Given the description of an element on the screen output the (x, y) to click on. 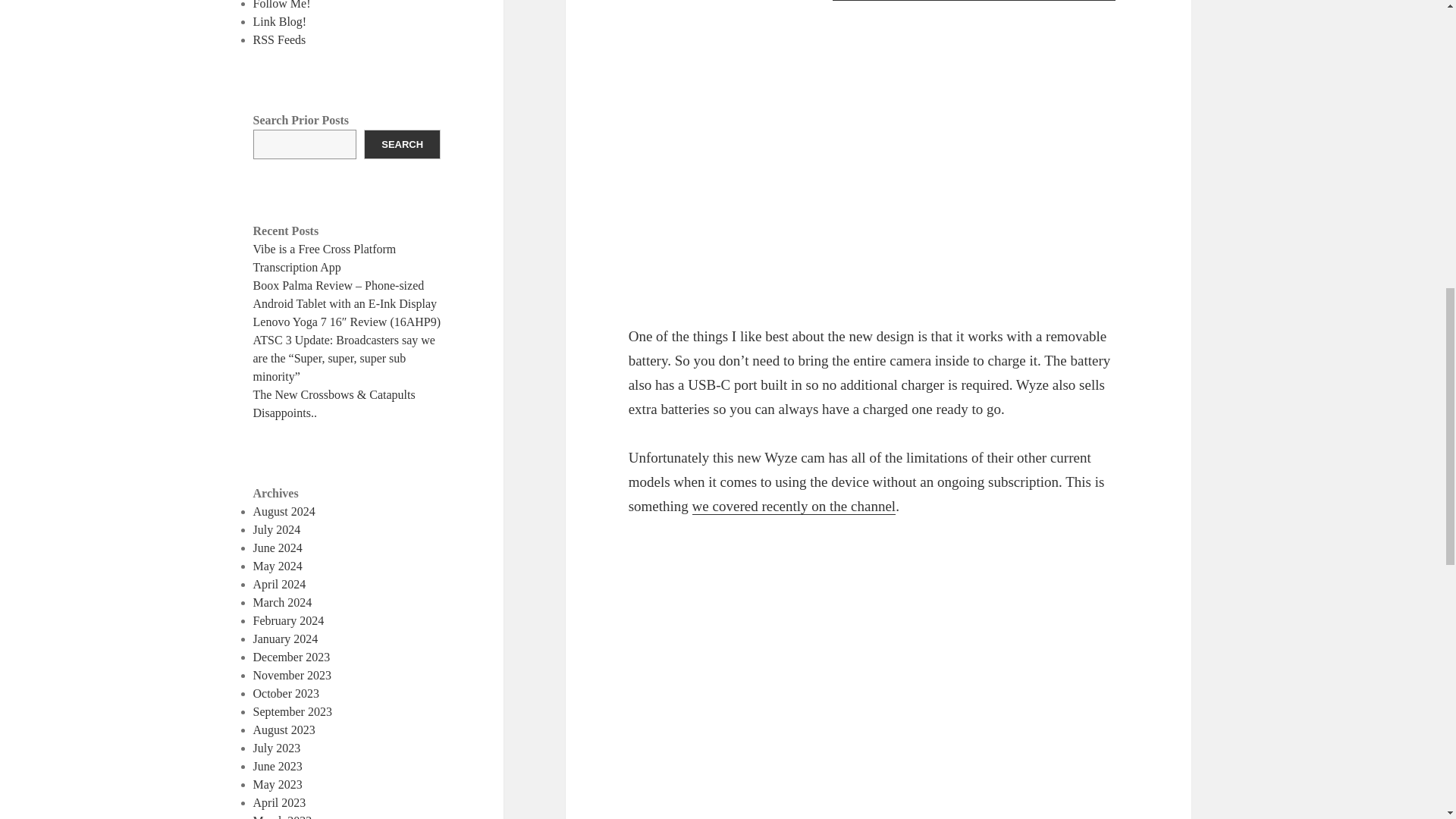
February 2024 (288, 620)
October 2023 (286, 693)
SEARCH (402, 143)
June 2024 (277, 547)
April 2024 (279, 584)
May 2024 (277, 565)
December 2023 (291, 656)
August 2024 (284, 511)
November 2023 (292, 675)
Vibe is a Free Cross Platform Transcription App (324, 257)
